Given the description of an element on the screen output the (x, y) to click on. 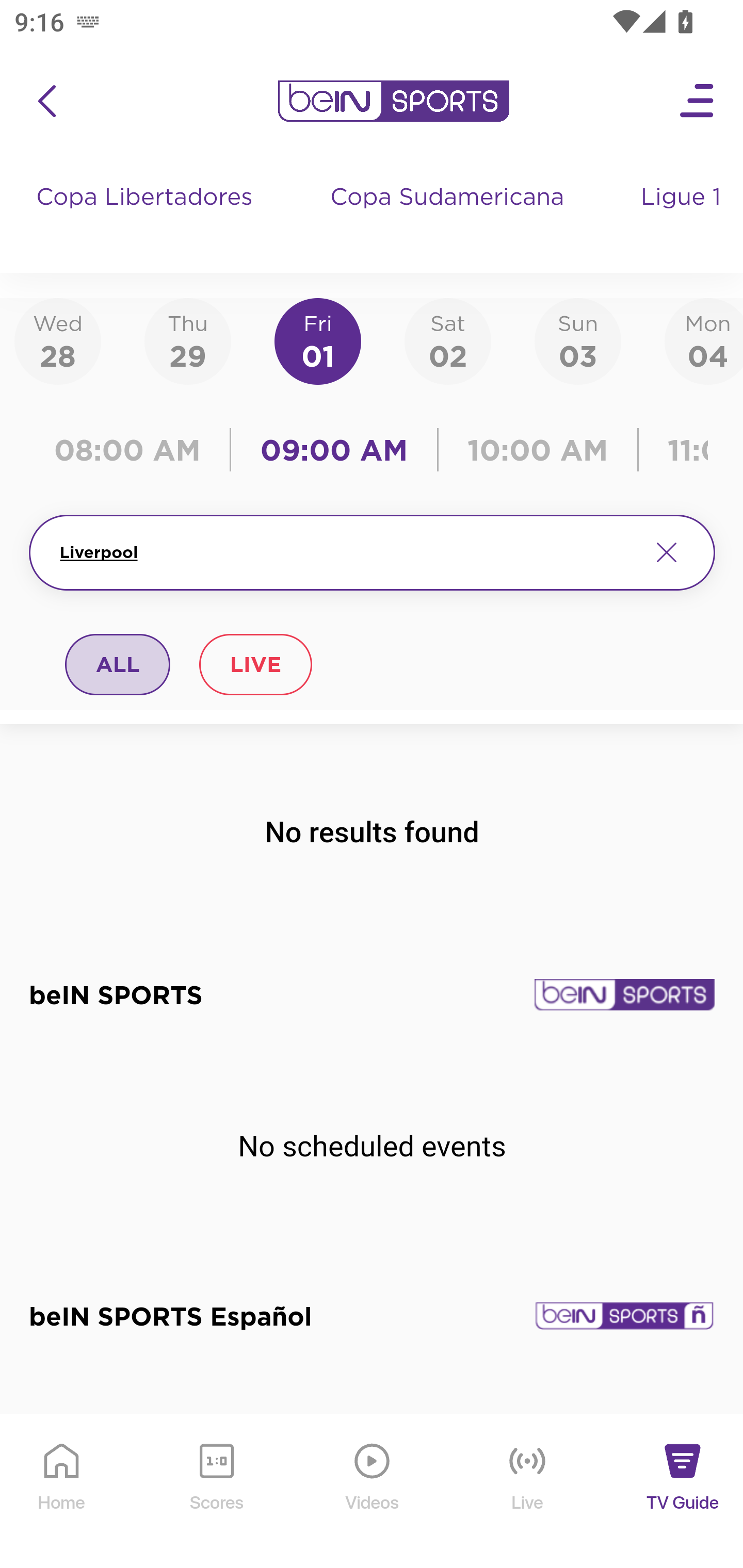
en-us?platform=mobile_android bein logo (392, 101)
icon back (46, 101)
Open Menu Icon (697, 101)
Copa Libertadores (146, 216)
Copa Sudamericana (448, 216)
Ligue 1 (682, 216)
Wed28 (58, 340)
Thu29 (187, 340)
Fri01 (318, 340)
Sat02 (447, 340)
Sun03 (578, 340)
Mon04 (703, 340)
08:00 AM (134, 449)
09:00 AM (334, 449)
10:00 AM (537, 449)
Liverpool (346, 552)
ALL (118, 663)
LIVE (255, 663)
Home Home Icon Home (61, 1491)
Scores Scores Icon Scores (216, 1491)
Videos Videos Icon Videos (372, 1491)
TV Guide TV Guide Icon TV Guide (682, 1491)
